Given the description of an element on the screen output the (x, y) to click on. 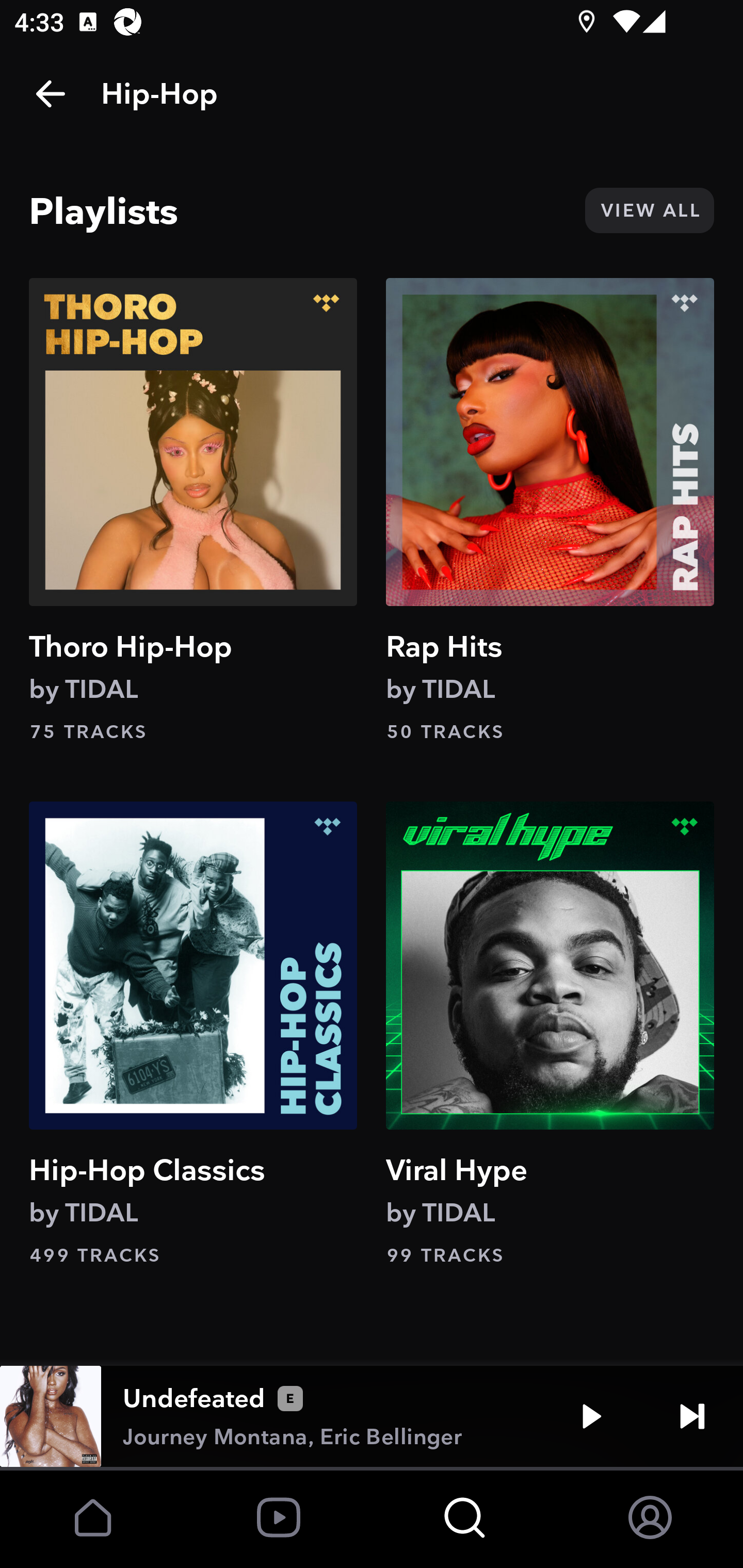
VIEW ALL (649, 210)
Thoro Hip-Hop by TIDAL 75 TRACKS (192, 510)
Rap Hits by TIDAL 50 TRACKS (549, 510)
Hip-Hop Classics by TIDAL 499 TRACKS (192, 1033)
Viral Hype by TIDAL 99 TRACKS (549, 1033)
Undefeated    Journey Montana, Eric Bellinger Play (371, 1416)
Play (590, 1416)
